Given the description of an element on the screen output the (x, y) to click on. 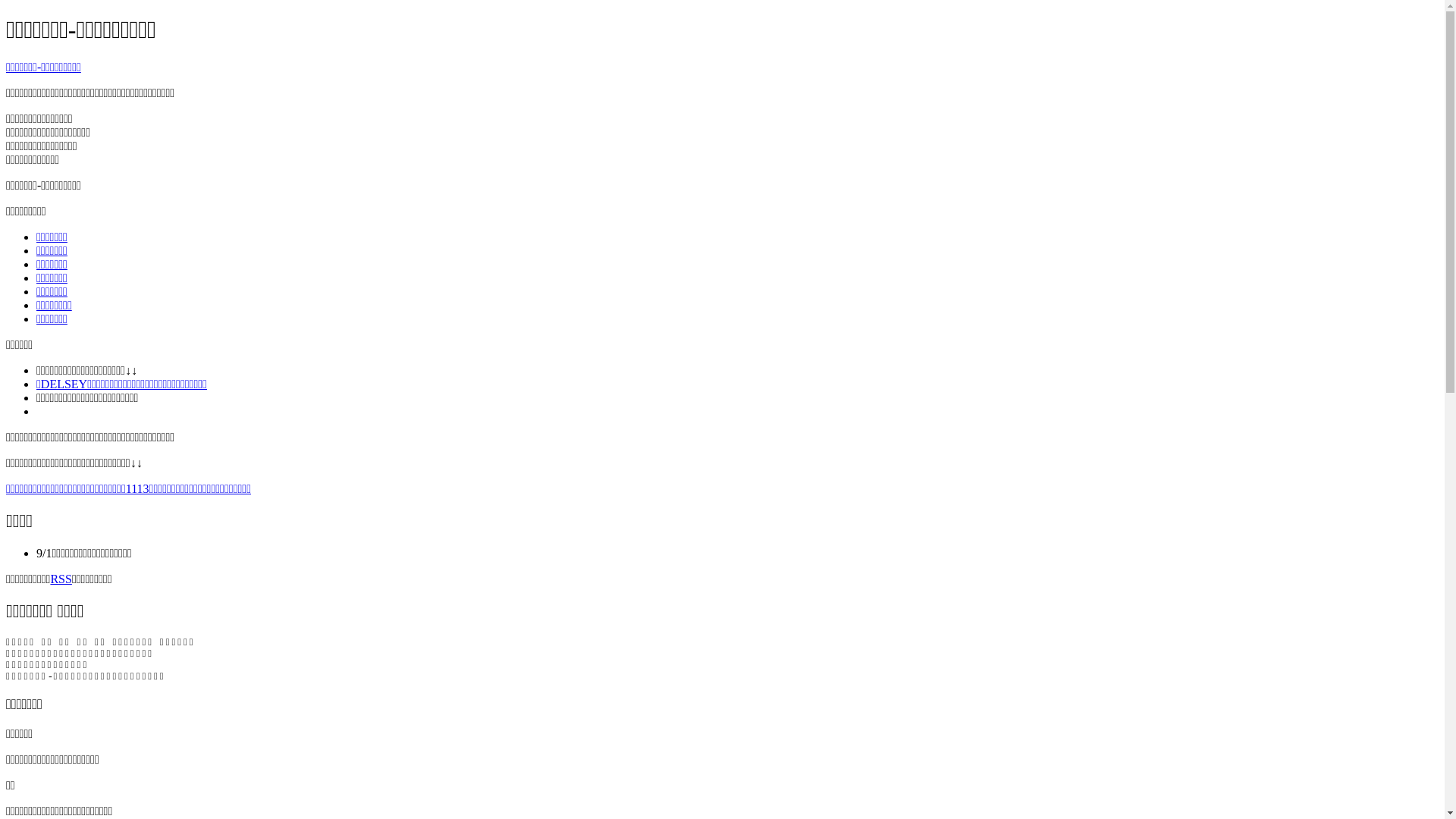
RSS Element type: text (60, 578)
